Given the description of an element on the screen output the (x, y) to click on. 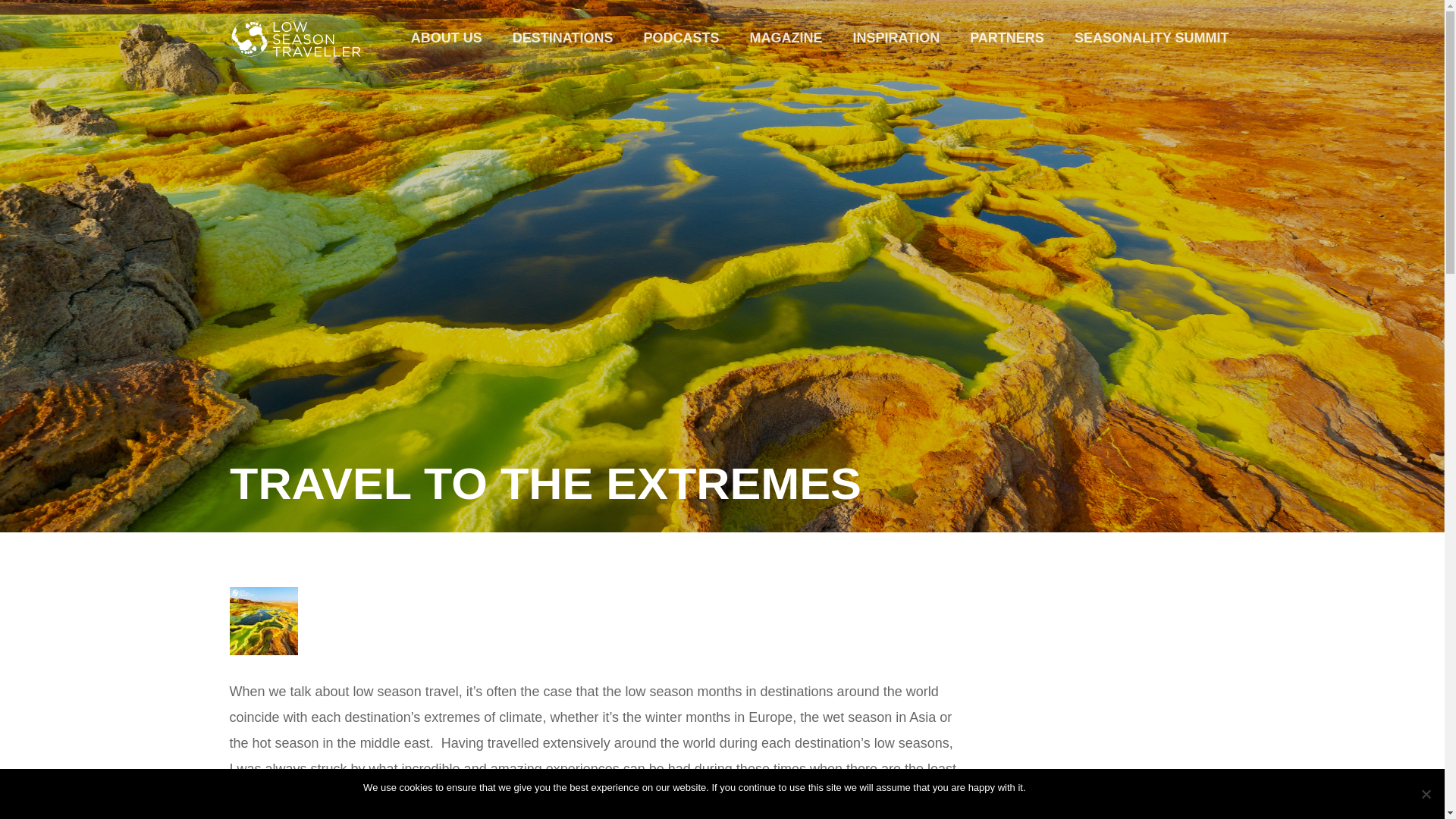
DESTINATIONS (562, 38)
No (1425, 793)
ABOUT US (446, 38)
SEASONALITY SUMMIT (1151, 38)
PARTNERS (1007, 38)
INSPIRATION (896, 38)
PODCASTS (681, 38)
MAGAZINE (786, 38)
